Given the description of an element on the screen output the (x, y) to click on. 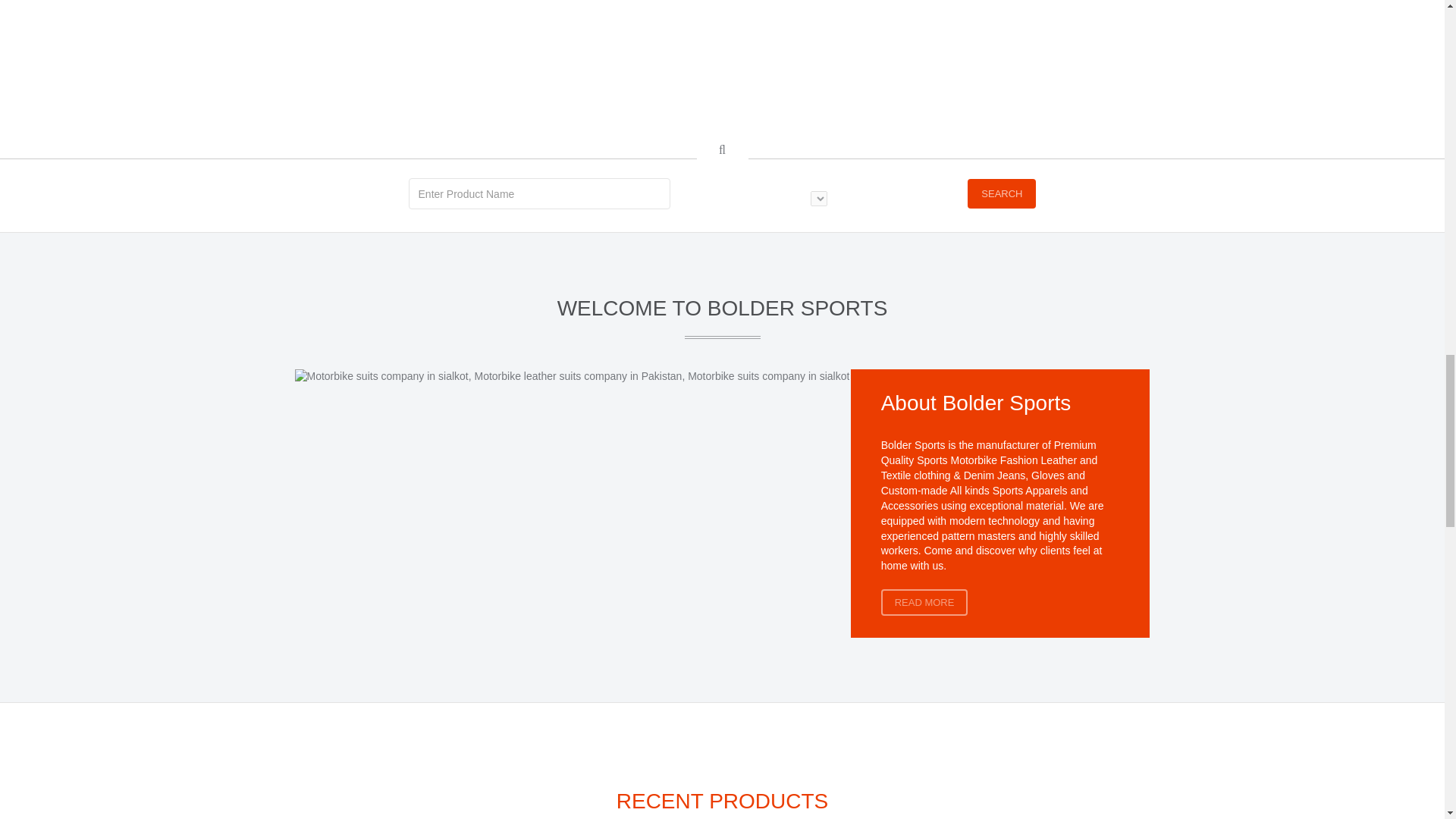
About Bolder Sports (975, 402)
SEARCH (1001, 193)
READ MORE (924, 601)
